Given the description of an element on the screen output the (x, y) to click on. 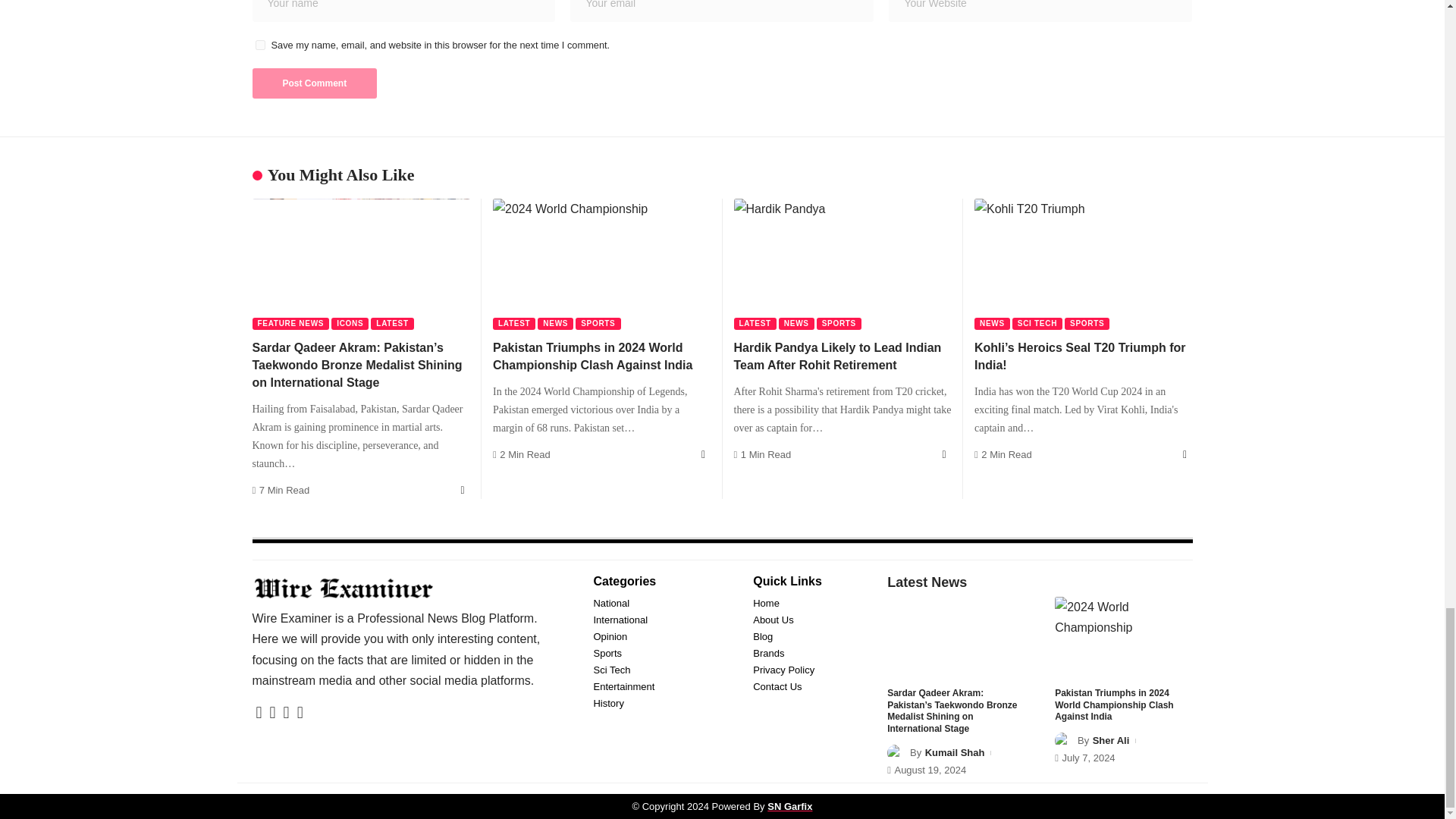
Post Comment (314, 82)
yes (259, 44)
